Given the description of an element on the screen output the (x, y) to click on. 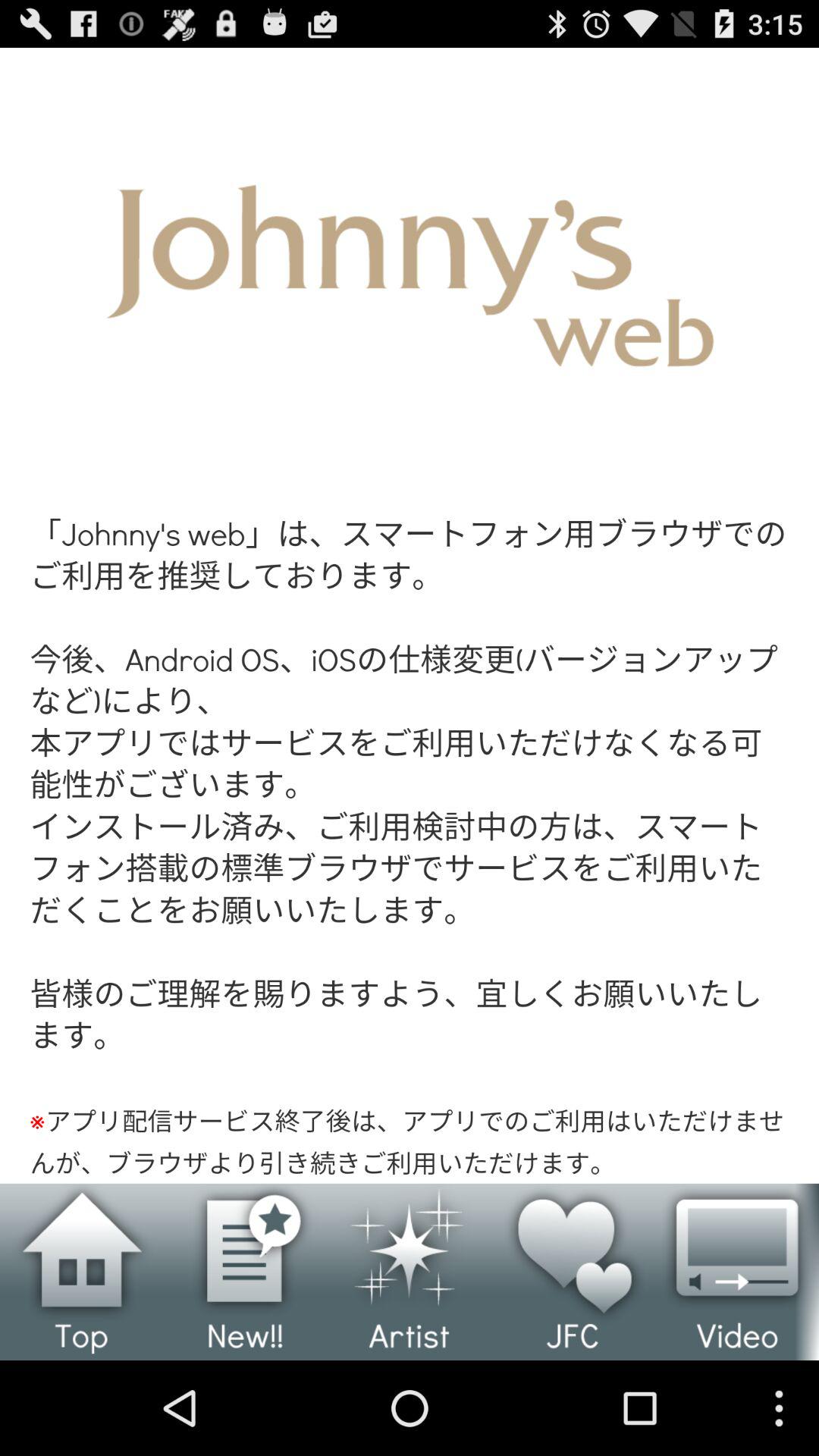
open artist page (409, 1271)
